Given the description of an element on the screen output the (x, y) to click on. 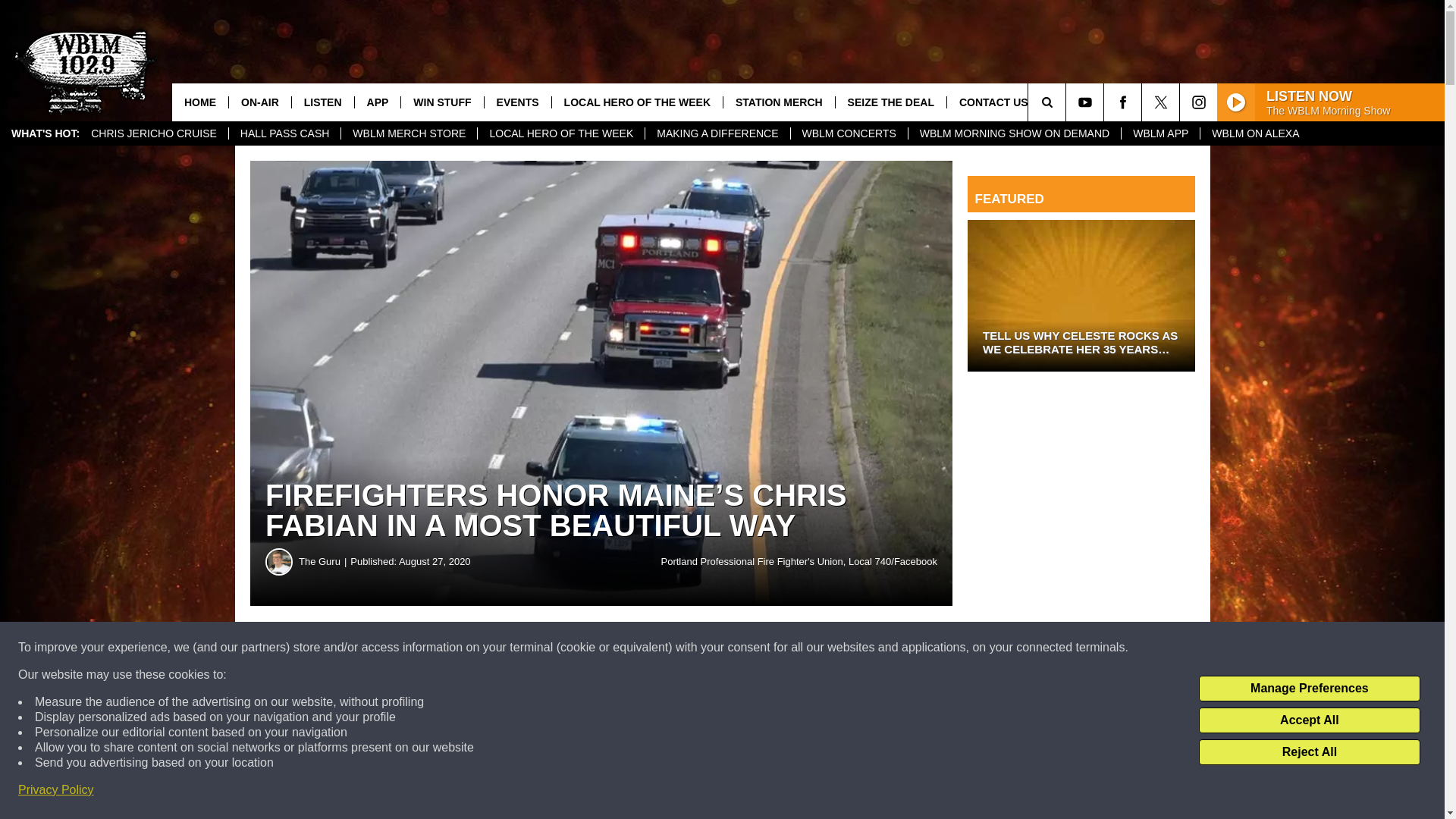
ON-AIR (259, 102)
WBLM MORNING SHOW ON DEMAND (1014, 133)
CHRIS JERICHO CRUISE (154, 133)
Share on Facebook (460, 647)
LISTEN (322, 102)
WBLM ON ALEXA (1254, 133)
Share on Twitter (741, 647)
HALL PASS CASH (284, 133)
LOCAL HERO OF THE WEEK (561, 133)
SEARCH (1068, 102)
